Given the description of an element on the screen output the (x, y) to click on. 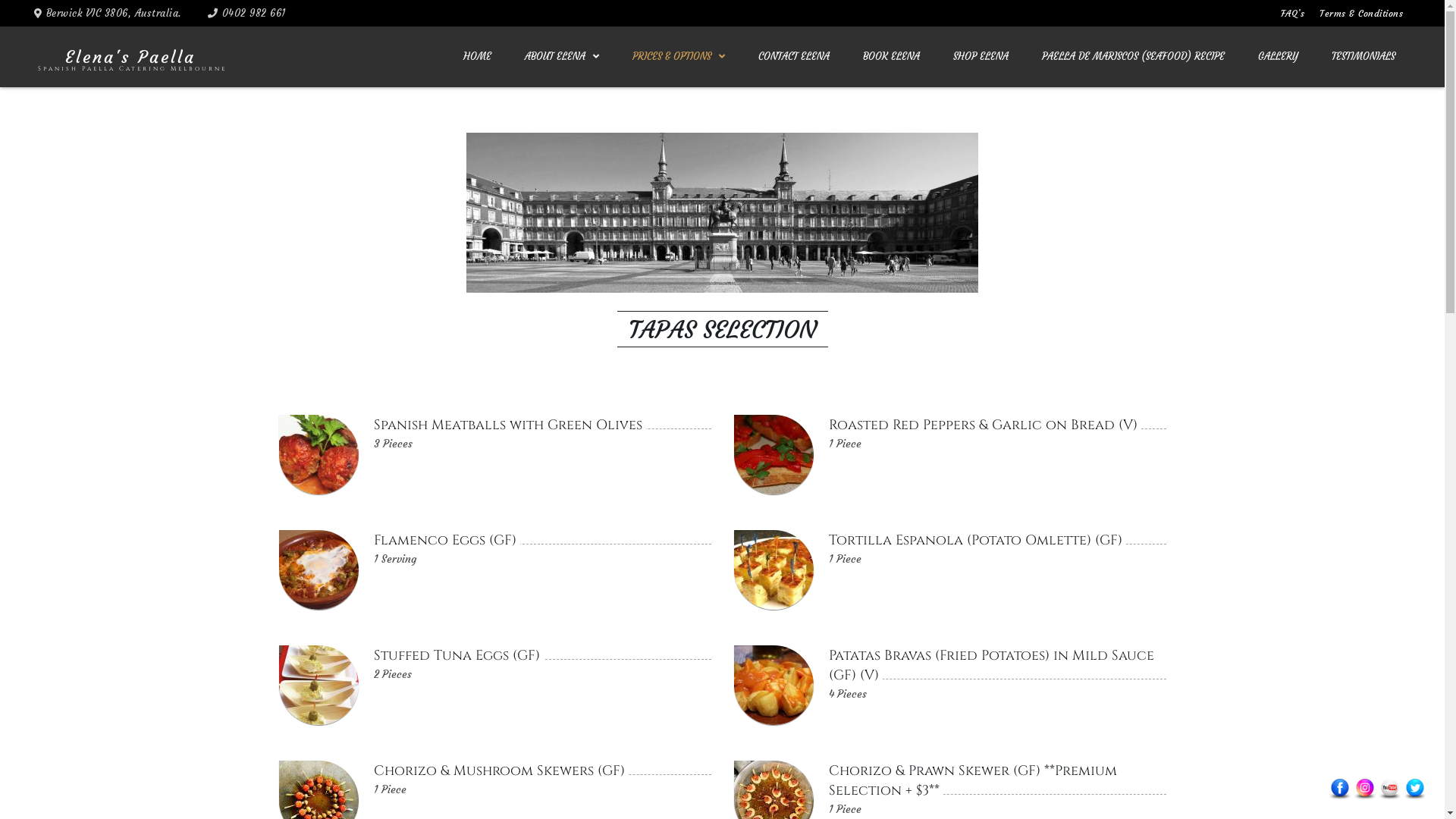
Terms & Conditions Element type: text (1360, 13)
TESTIMONIALS Element type: text (1363, 56)
CONTACT ELENA Element type: text (793, 56)
0402 982 661 Element type: text (253, 12)
Visit Us On Youtube Element type: hover (1389, 785)
PAELLA DE MARISCOS (SEAFOOD) RECIPE Element type: text (1132, 56)
Visit Us On Facebook Element type: hover (1339, 785)
GALLERY Element type: text (1277, 56)
SHOP ELENA Element type: text (980, 56)
ABOUT ELENA Element type: text (561, 56)
Visit Us On Instagram Element type: hover (1364, 785)
Visit Us On Twitter Element type: hover (1414, 785)
BOOK ELENA Element type: text (891, 56)
PRICES & OPTIONS Element type: text (678, 56)
HOME Element type: text (477, 56)
Elena'S Paella
Spanish Paella Catering Melbourne Element type: text (130, 60)
